Given the description of an element on the screen output the (x, y) to click on. 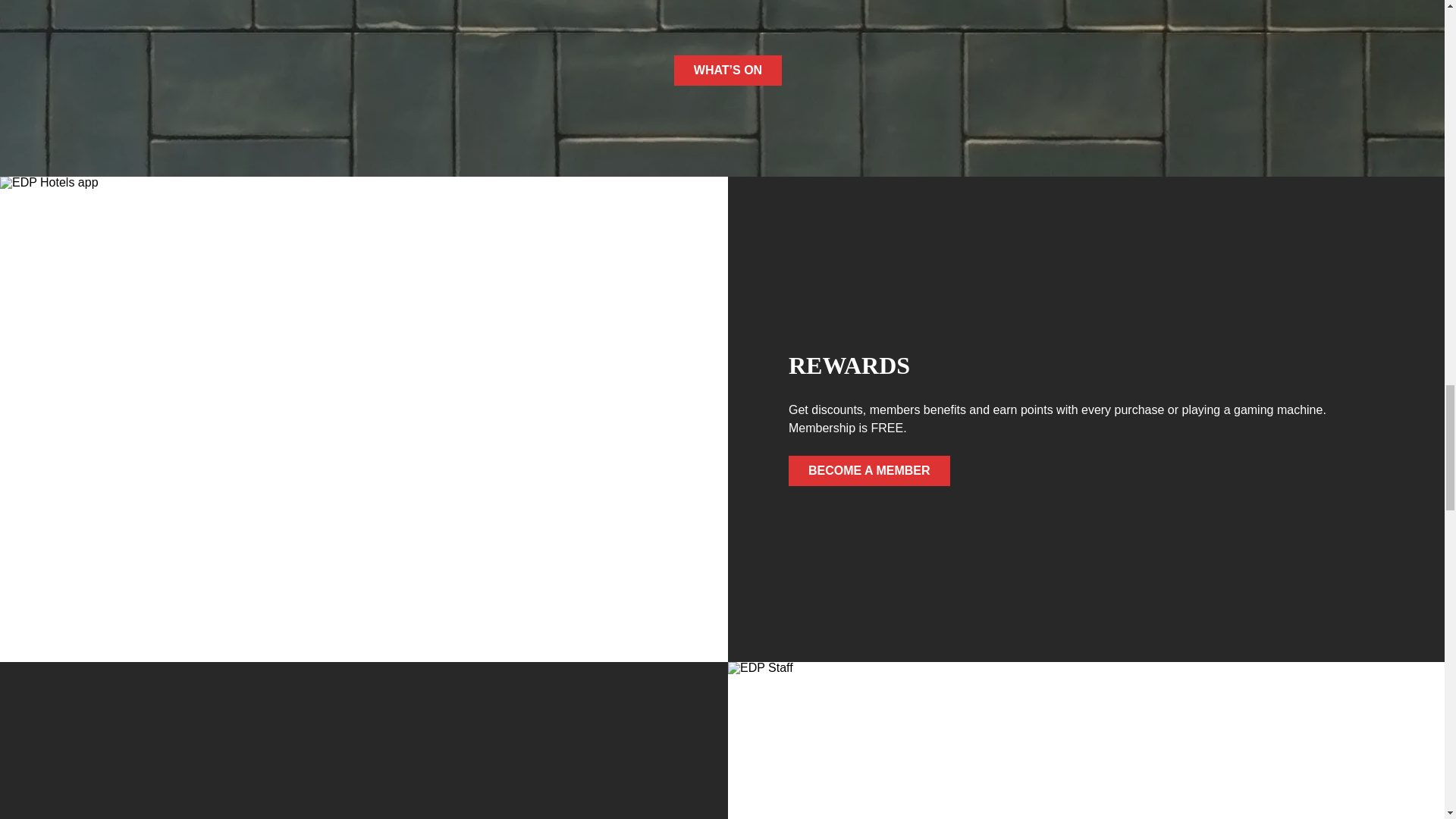
BECOME A MEMBER (869, 470)
